Given the description of an element on the screen output the (x, y) to click on. 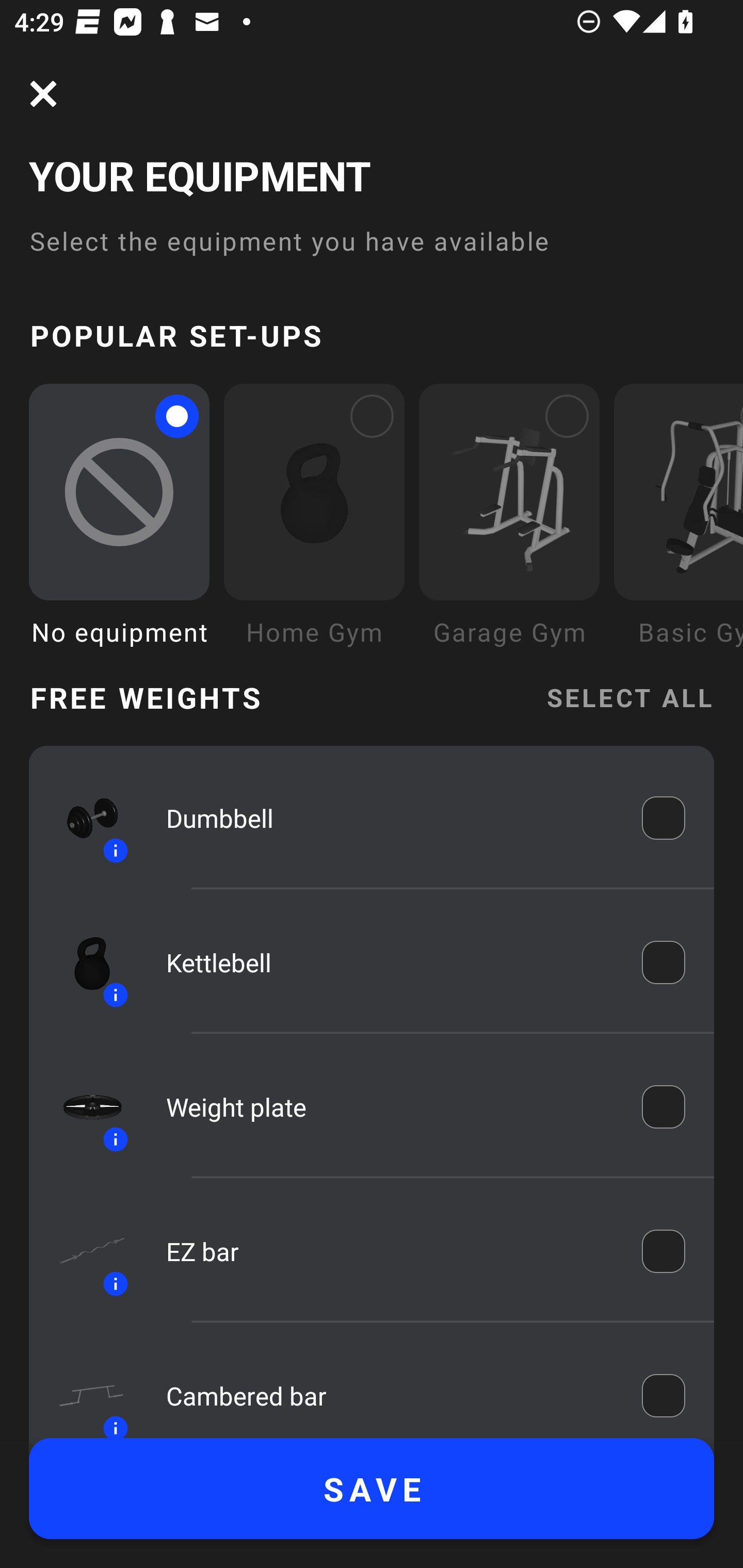
Navigation icon (43, 93)
SELECT ALL (629, 696)
Equipment icon Information icon (82, 817)
Dumbbell (389, 817)
Equipment icon Information icon (82, 961)
Kettlebell (389, 961)
Equipment icon Information icon (82, 1106)
Weight plate (389, 1106)
Equipment icon Information icon (82, 1251)
EZ bar (389, 1251)
Equipment icon Information icon (82, 1389)
Cambered bar (389, 1394)
SAVE (371, 1488)
